Given the description of an element on the screen output the (x, y) to click on. 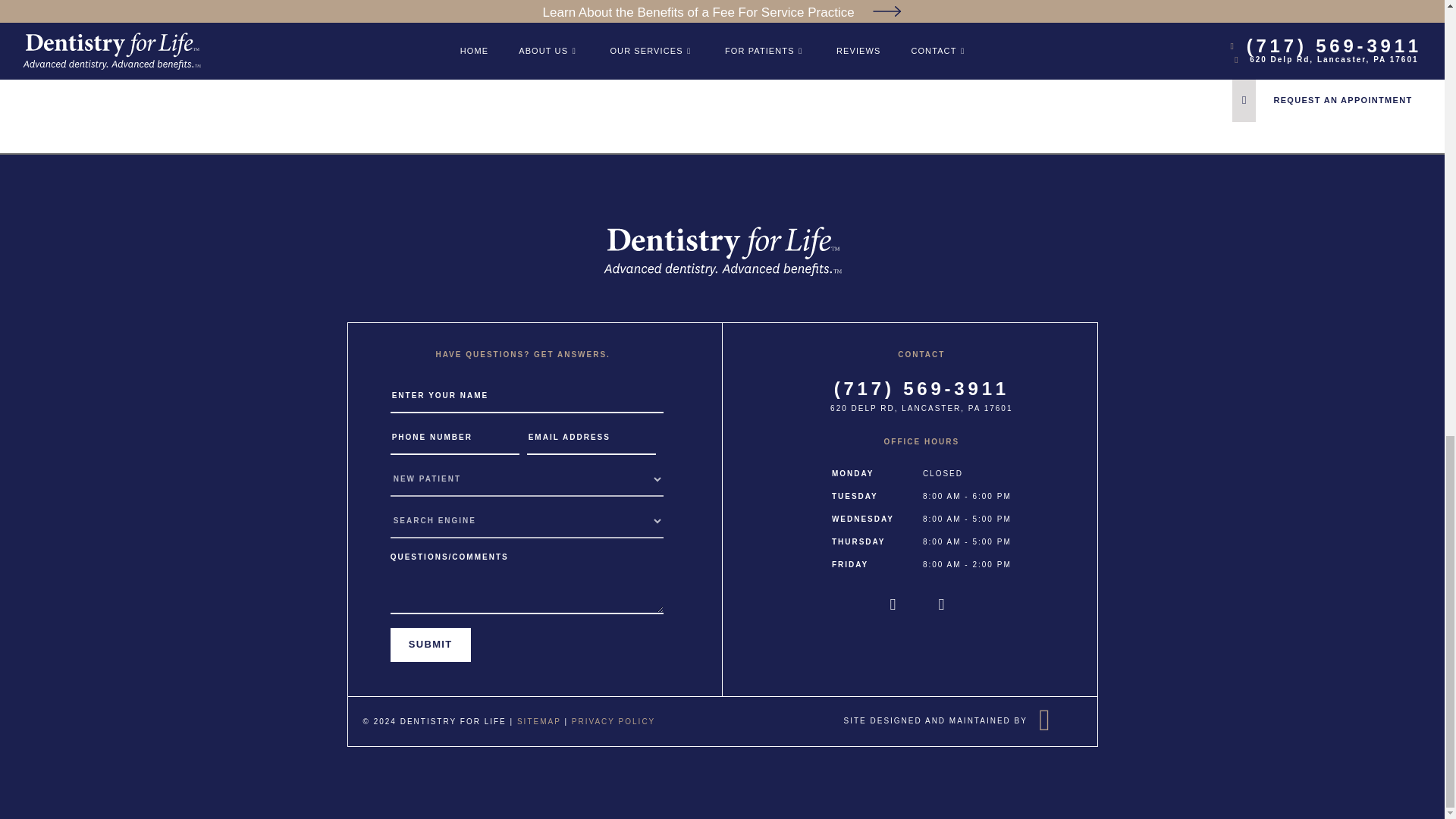
Submit (430, 644)
